Given the description of an element on the screen output the (x, y) to click on. 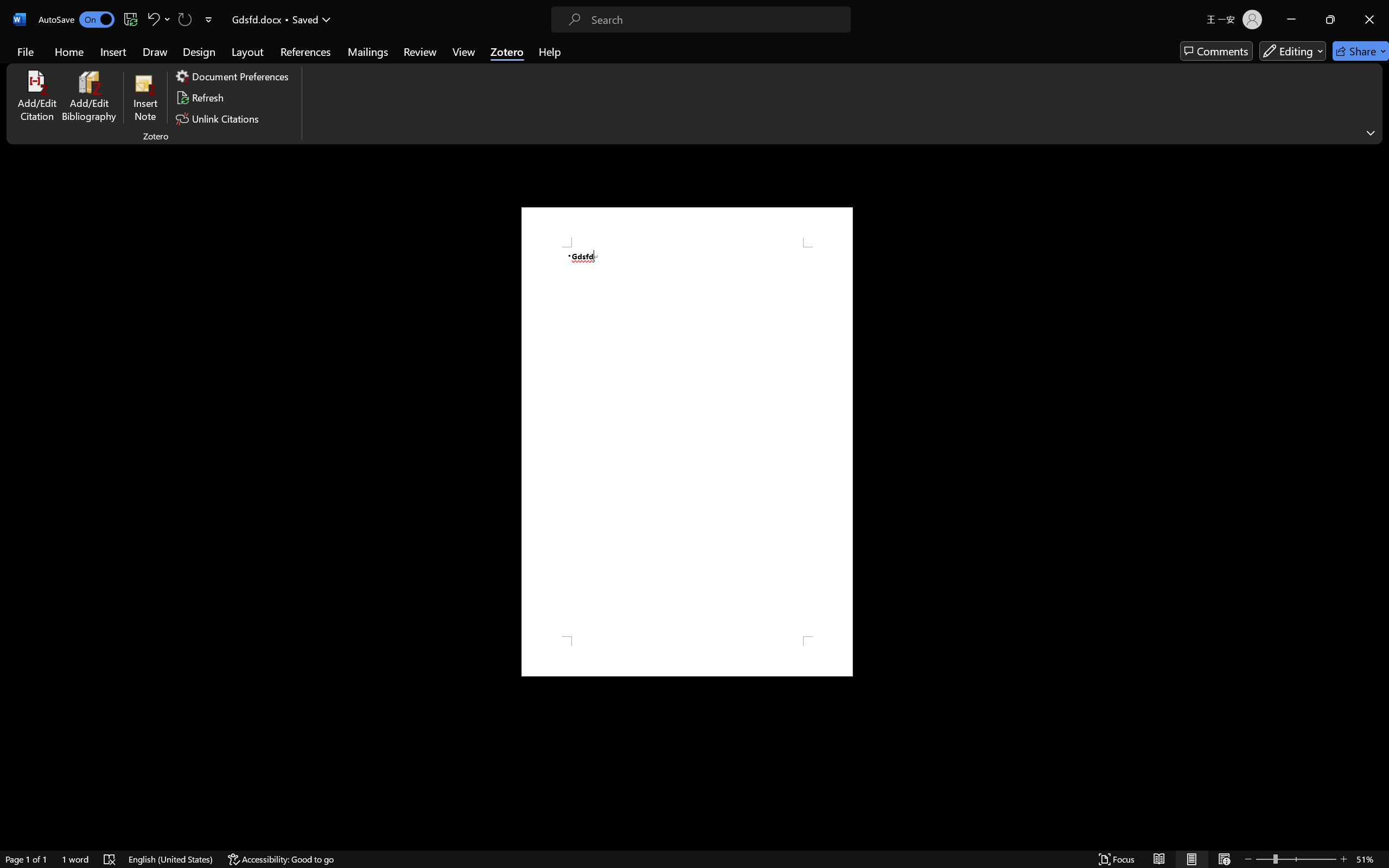
Page 1 content (686, 441)
